Given the description of an element on the screen output the (x, y) to click on. 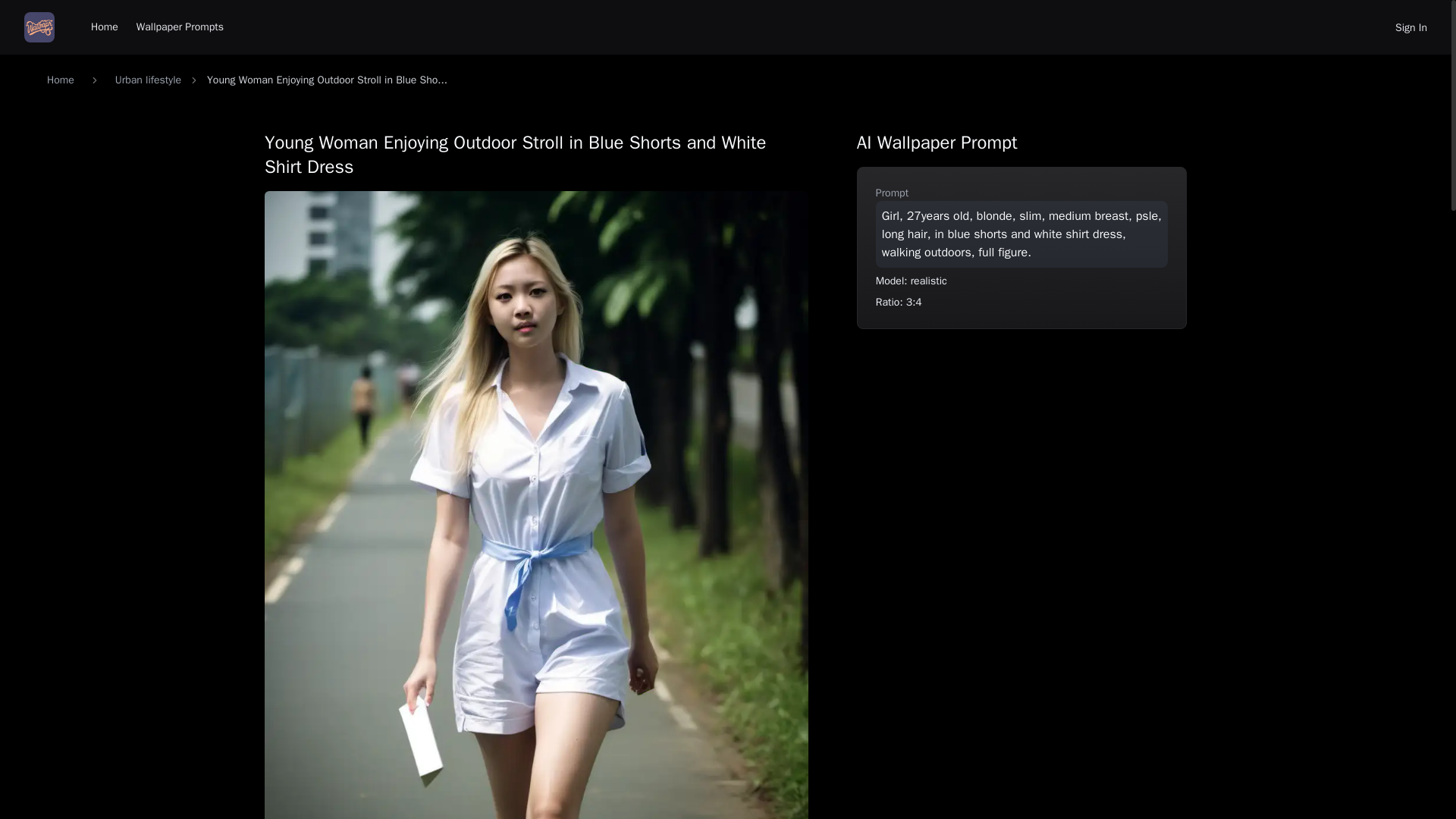
Home (60, 79)
Home (103, 27)
Wallpaper Prompts (180, 27)
Sign In (1410, 27)
Urban lifestyle (147, 79)
